Given the description of an element on the screen output the (x, y) to click on. 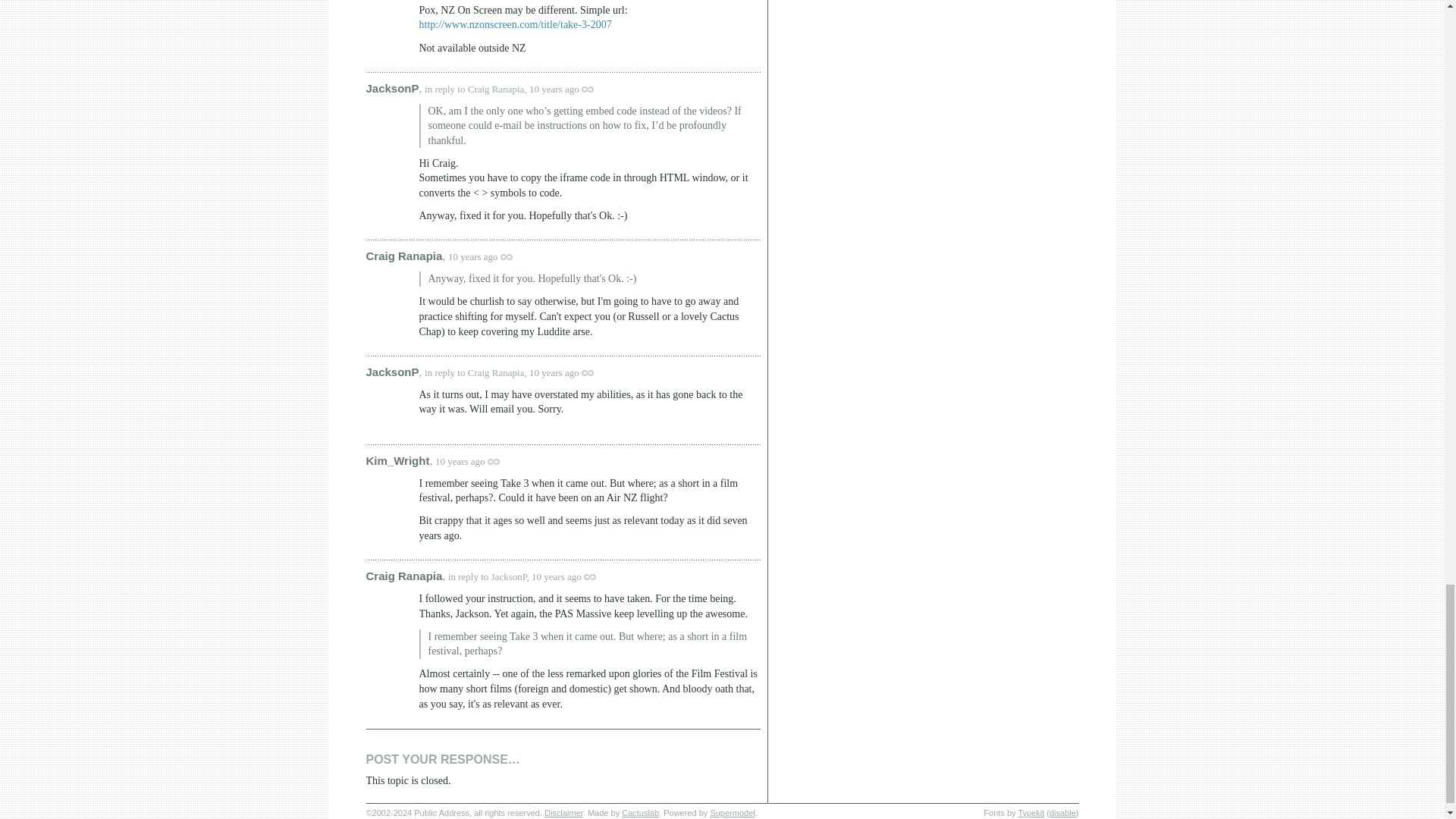
10 years ago (487, 256)
10 years ago (568, 89)
JacksonP (392, 88)
12:01 Mar 28, 2014 (554, 372)
10 years ago (568, 372)
11:52 Mar 28, 2014 (554, 89)
JacksonP (392, 371)
Craig Ranapia, (497, 372)
12:09 Mar 28, 2014 (555, 576)
12:02 Mar 28, 2014 (459, 460)
11:57 Mar 28, 2014 (472, 256)
Craig Ranapia, (497, 89)
Craig Ranapia (403, 255)
